Given the description of an element on the screen output the (x, y) to click on. 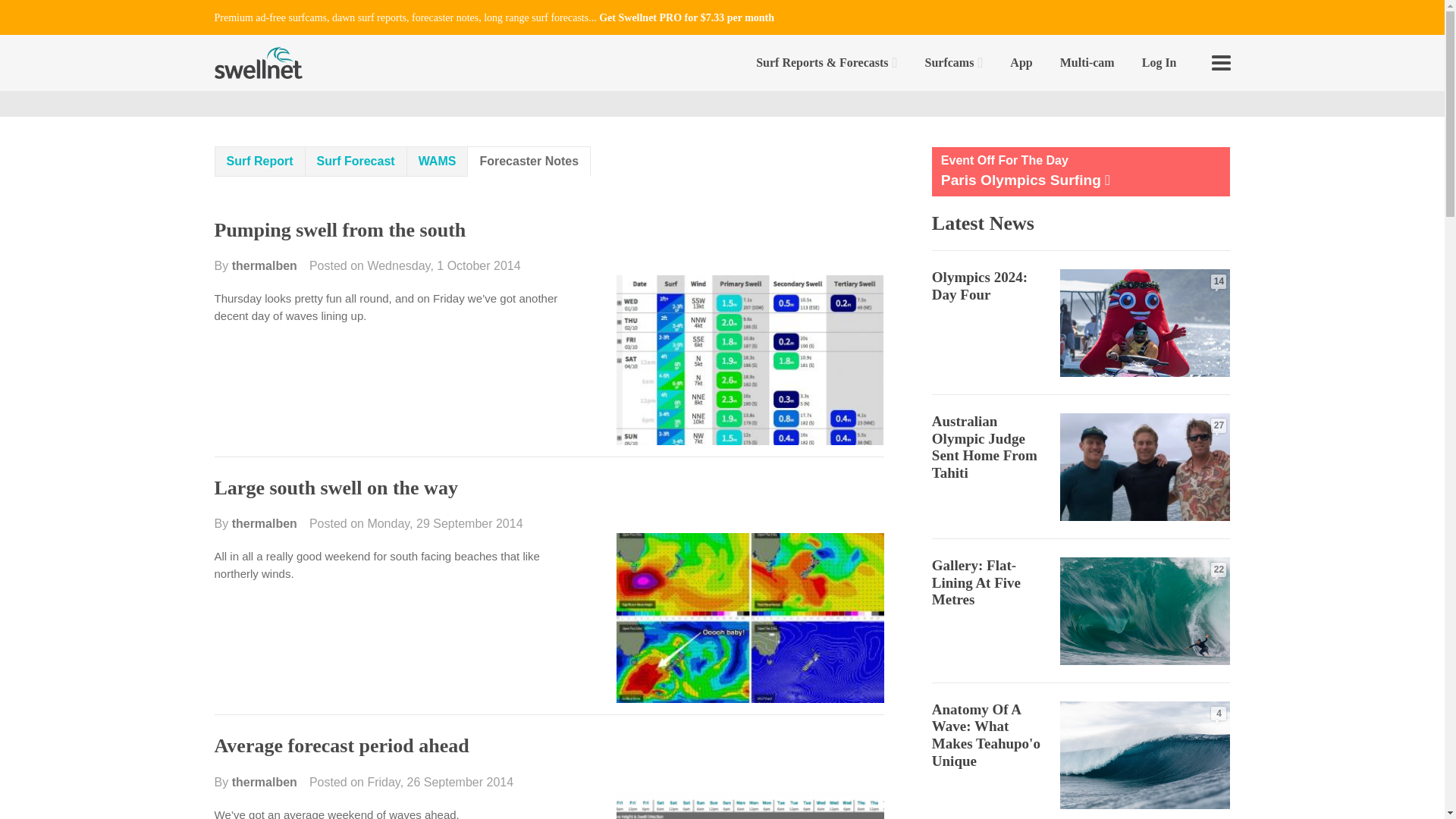
Swellnet (257, 62)
